Given the description of an element on the screen output the (x, y) to click on. 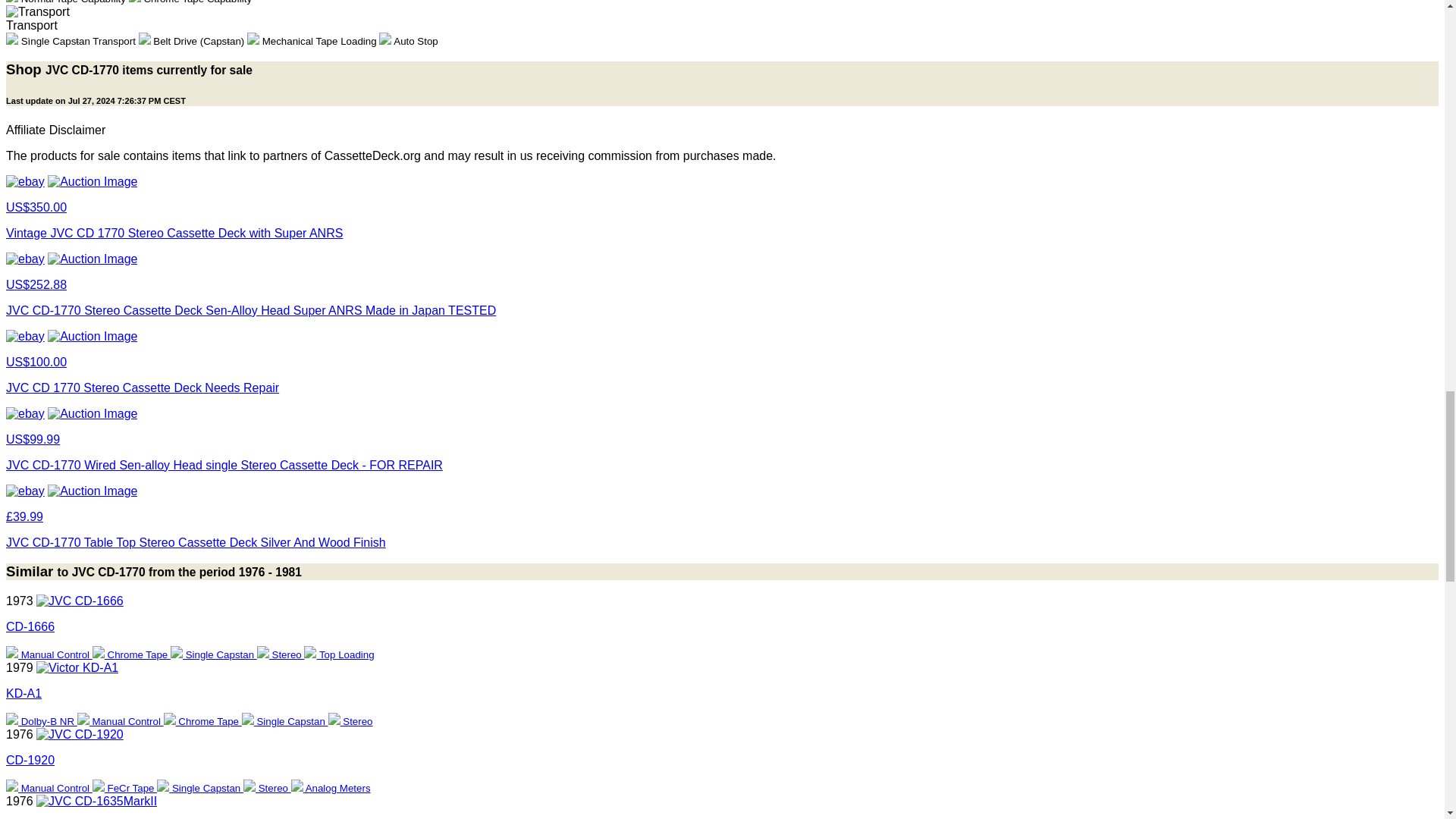
Transport (37, 11)
